Given the description of an element on the screen output the (x, y) to click on. 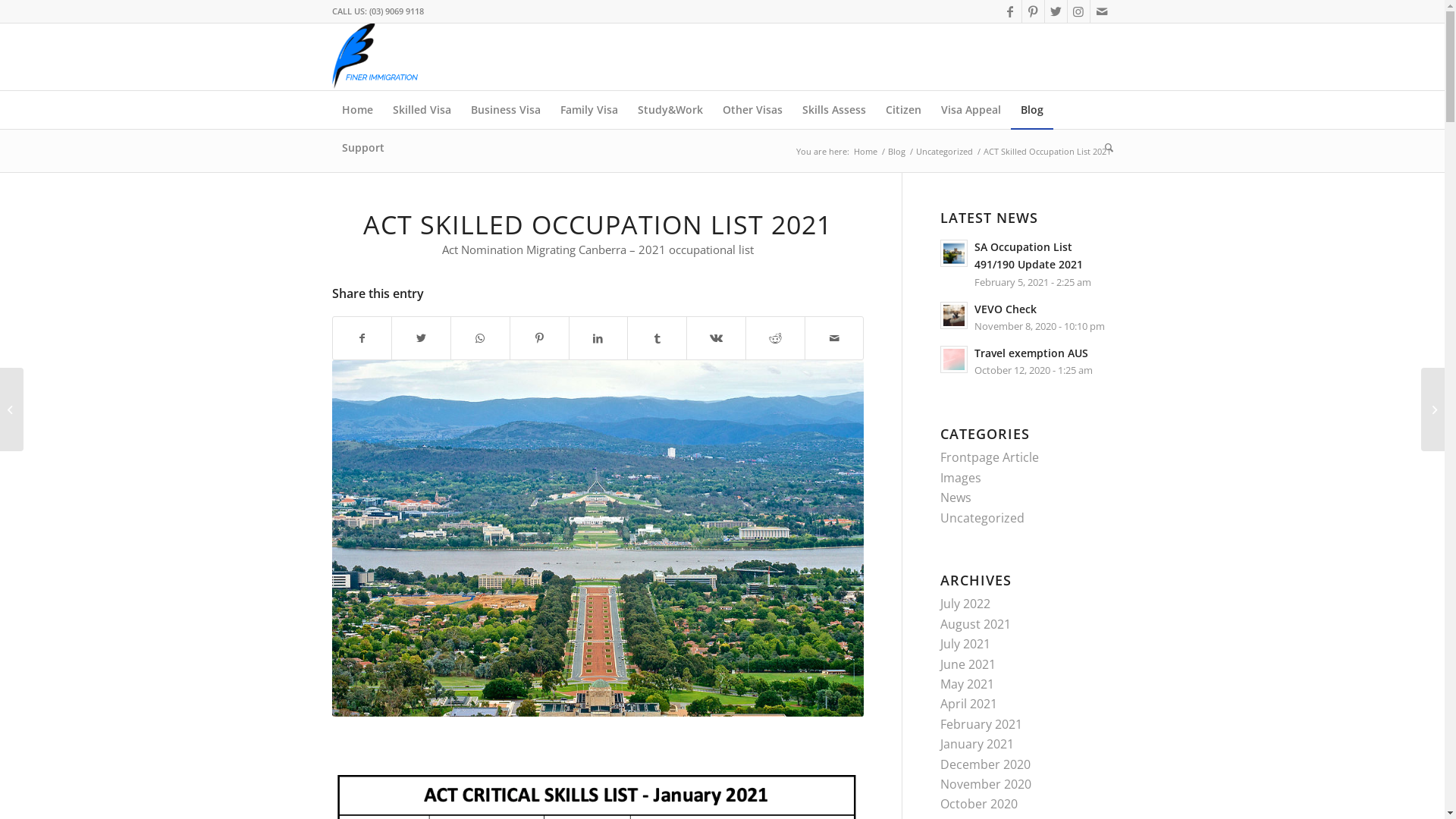
January 2021 Element type: text (976, 743)
Facebook Element type: hover (1010, 11)
August 2021 Element type: text (975, 623)
Visa Appeal Element type: text (970, 109)
Canberra Investment Visa 188 Element type: hover (598, 538)
News Element type: text (955, 497)
Frontpage Article Element type: text (989, 456)
Business Visa Element type: text (505, 109)
Uncategorized Element type: text (982, 517)
May 2021 Element type: text (967, 683)
July 2021 Element type: text (965, 643)
Citizen Element type: text (902, 109)
November 2020 Element type: text (985, 783)
Family Visa Element type: text (588, 109)
Images Element type: text (960, 477)
Home Element type: text (864, 150)
Blog Element type: text (896, 150)
Mail Element type: hover (1101, 11)
Uncategorized Element type: text (943, 150)
Twitter Element type: hover (1055, 11)
Pinterest Element type: hover (1033, 11)
Other Visas Element type: text (752, 109)
VEVO Check
November 8, 2020 - 10:10 pm Element type: text (1026, 316)
Home Element type: text (357, 109)
finer visa Element type: hover (378, 56)
July 2022 Element type: text (965, 603)
October 2020 Element type: text (978, 803)
February 2021 Element type: text (981, 723)
Support Element type: text (363, 147)
Study&Work Element type: text (669, 109)
Skills Assess Element type: text (833, 109)
December 2020 Element type: text (985, 764)
June 2021 Element type: text (967, 663)
April 2021 Element type: text (968, 703)
Blog Element type: text (1031, 109)
Instagram Element type: hover (1078, 11)
Skilled Visa Element type: text (421, 109)
Travel exemption AUS
October 12, 2020 - 1:25 am Element type: text (1026, 360)
